Given the description of an element on the screen output the (x, y) to click on. 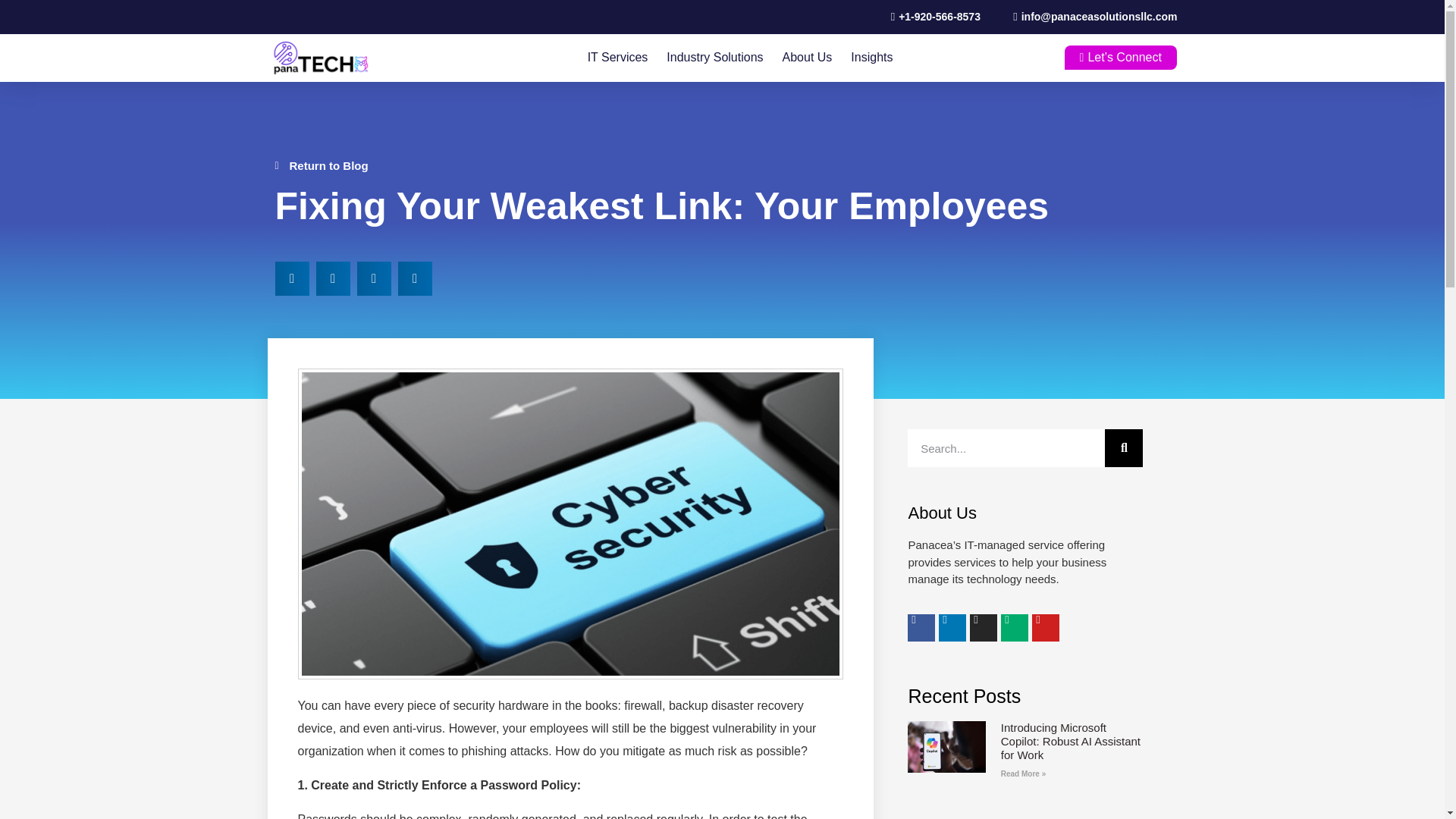
IT Services (617, 57)
About Us (807, 57)
Insights (871, 57)
Industry Solutions (714, 57)
